Given the description of an element on the screen output the (x, y) to click on. 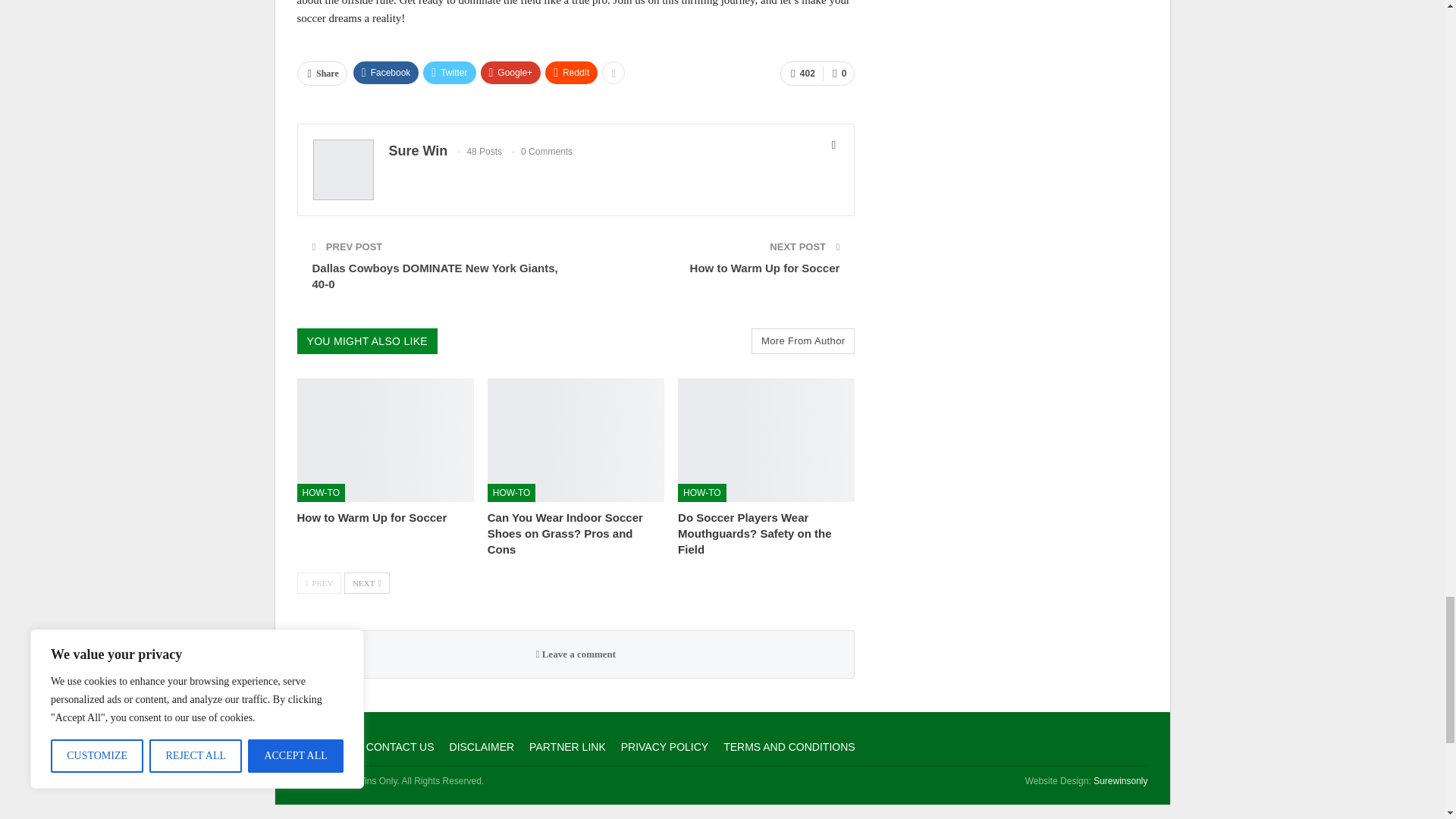
How to Warm Up for Soccer (371, 517)
How to Warm Up for Soccer (385, 440)
Can You Wear Indoor Soccer Shoes on Grass? Pros and Cons (565, 533)
Can You Wear Indoor Soccer Shoes on Grass? Pros and Cons (575, 440)
